Given the description of an element on the screen output the (x, y) to click on. 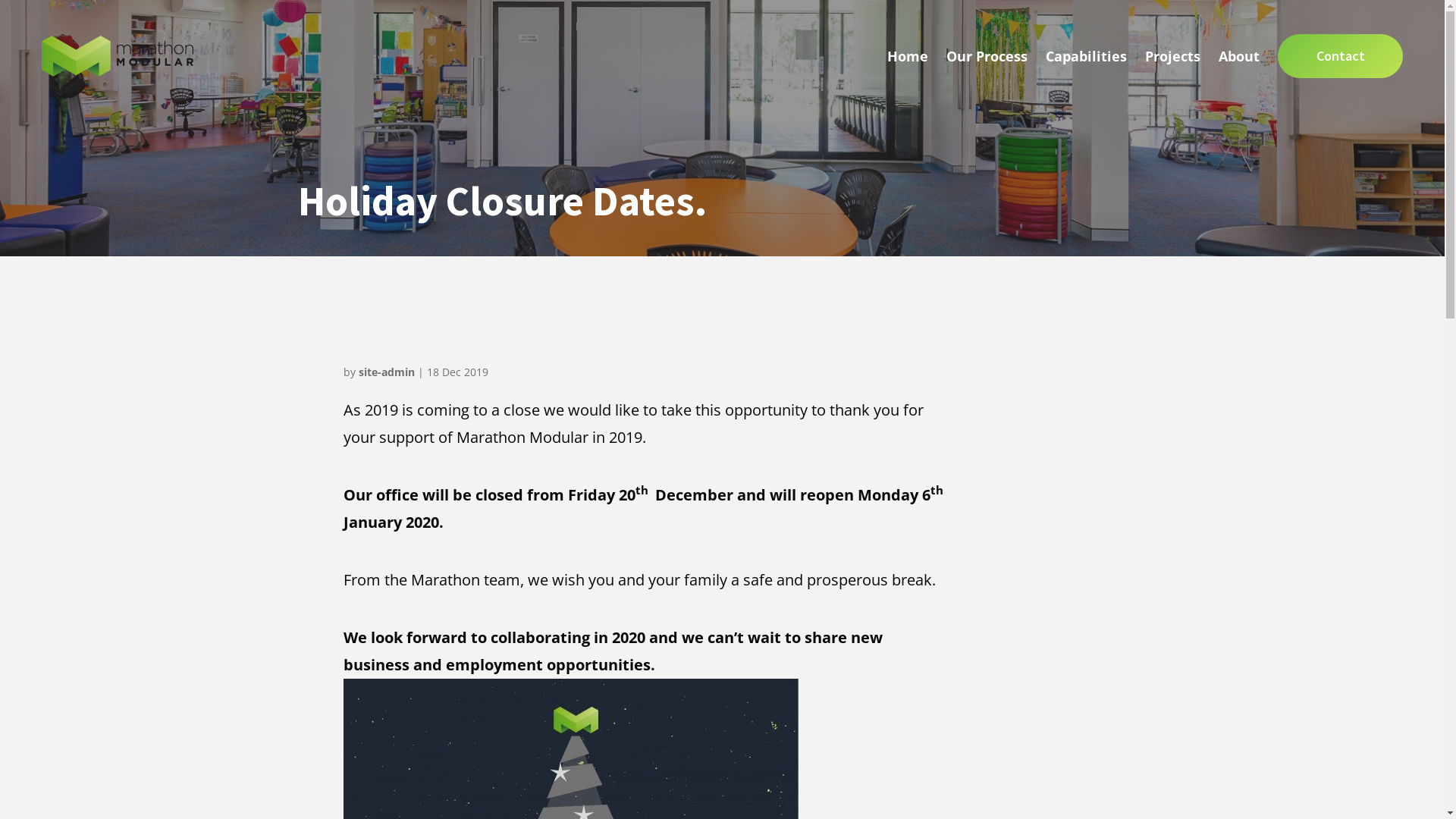
Why Build Modular? Element type: text (1297, 110)
Education Element type: text (1077, 110)
Our Process Element type: text (986, 55)
Commercial Element type: text (1340, 110)
About Element type: text (1238, 55)
Home Element type: text (907, 55)
Project Cost Calculator Element type: text (1015, 110)
Contact Element type: text (1339, 56)
Childcare Element type: text (1141, 110)
MarathonModular-Logo2 Element type: hover (117, 55)
Health Element type: text (1401, 110)
Sport and Recreation Element type: text (1237, 110)
DfMA Element type: text (1377, 110)
Capabilities Element type: text (1085, 55)
Projects Element type: text (1172, 55)
